Given the description of an element on the screen output the (x, y) to click on. 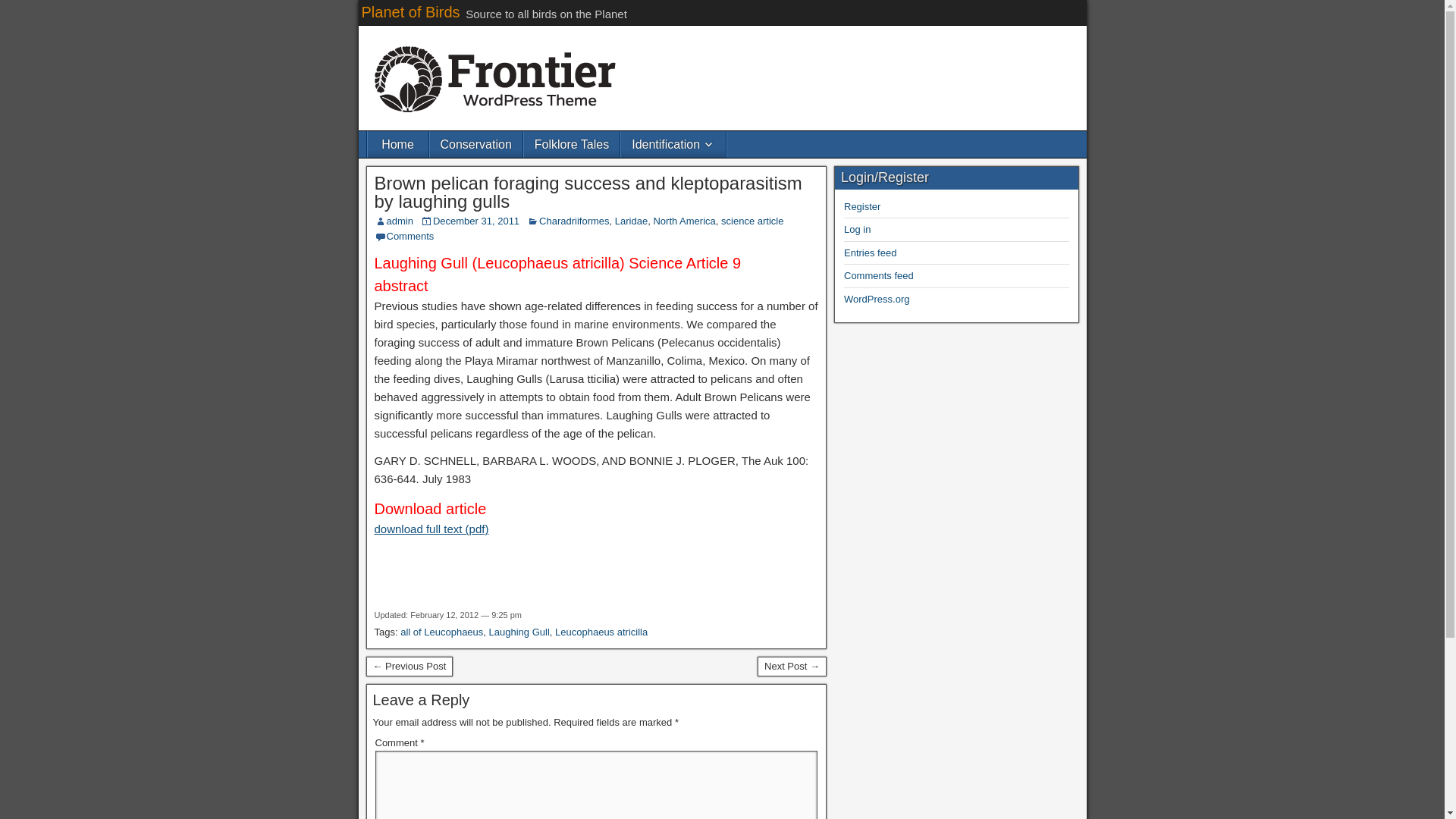
Laridae (630, 220)
Identification (673, 144)
science article (751, 220)
Conservation (475, 144)
WordPress.org (876, 298)
admin (400, 220)
December 31, 2011 (475, 220)
Leucophaeus atricilla (600, 632)
all of Leucophaeus (441, 632)
Planet of Birds (410, 12)
Laughing Gull (519, 632)
Entries feed (870, 252)
Charadriiformes (573, 220)
Register (862, 206)
